Given the description of an element on the screen output the (x, y) to click on. 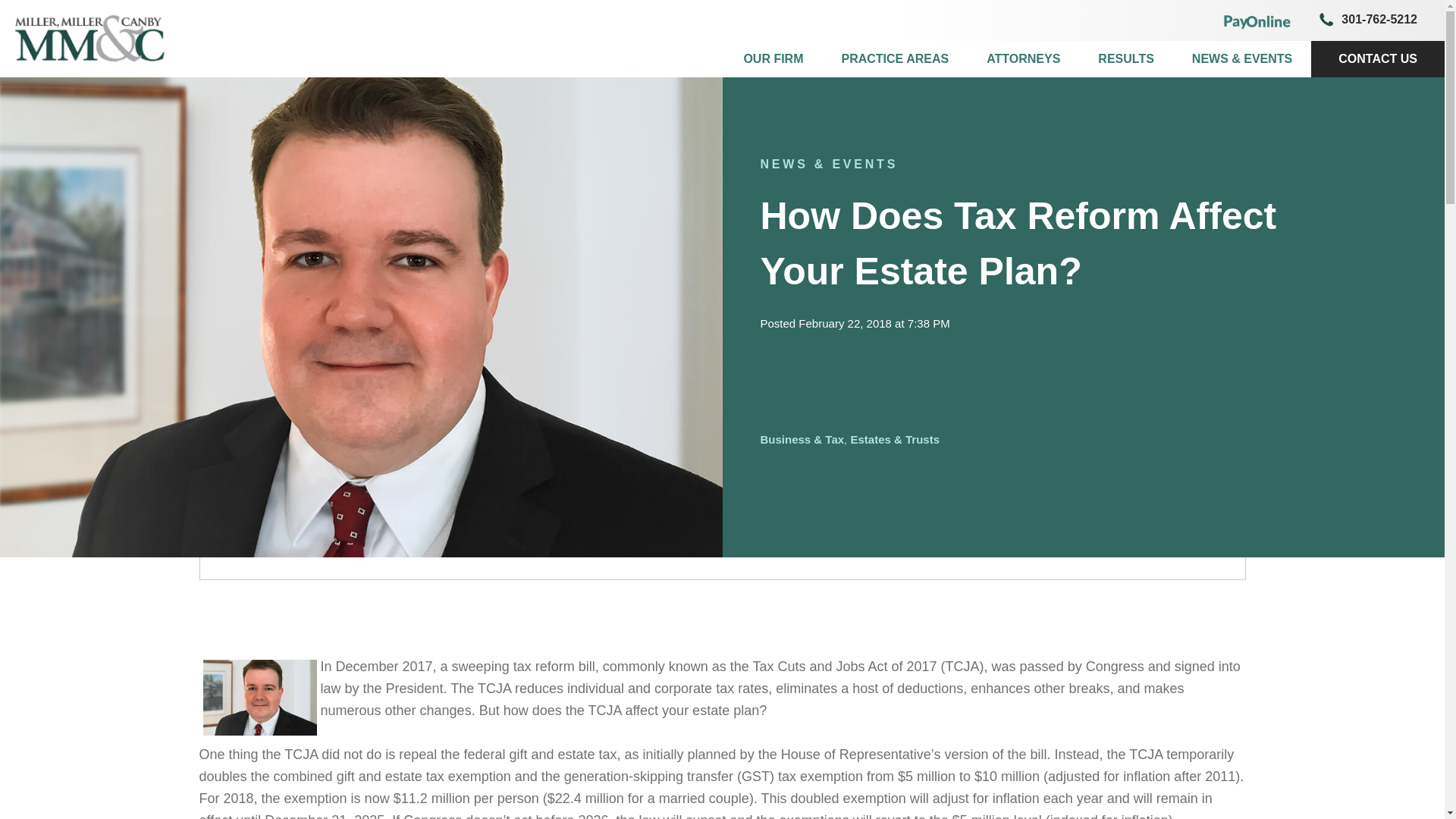
301-762-5212 (1365, 20)
PRACTICE AREAS (895, 58)
payonline (1257, 20)
OUR FIRM (772, 58)
ATTORNEYS (1023, 58)
